Given the description of an element on the screen output the (x, y) to click on. 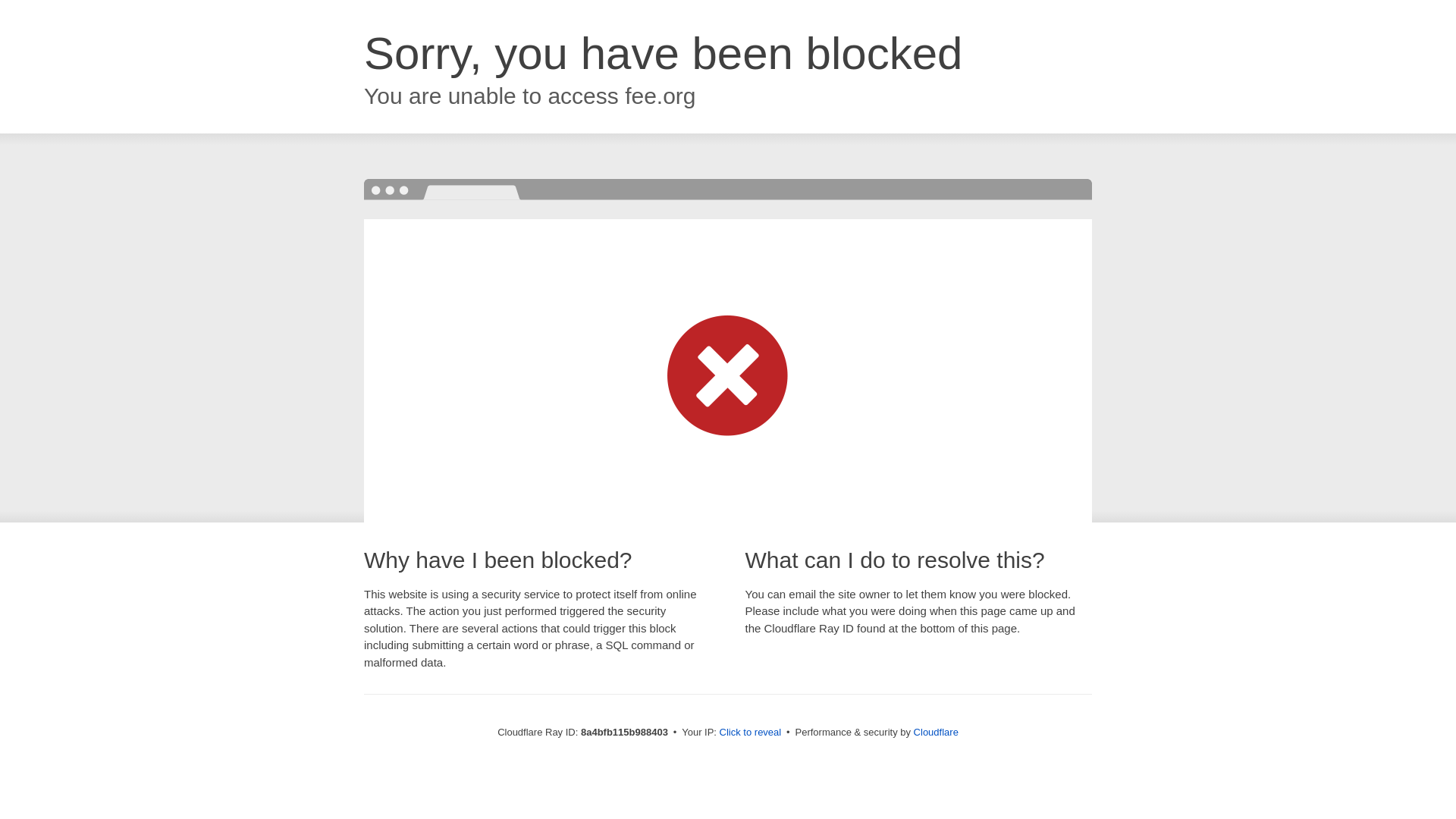
Click to reveal (750, 732)
Cloudflare (936, 731)
